Given the description of an element on the screen output the (x, y) to click on. 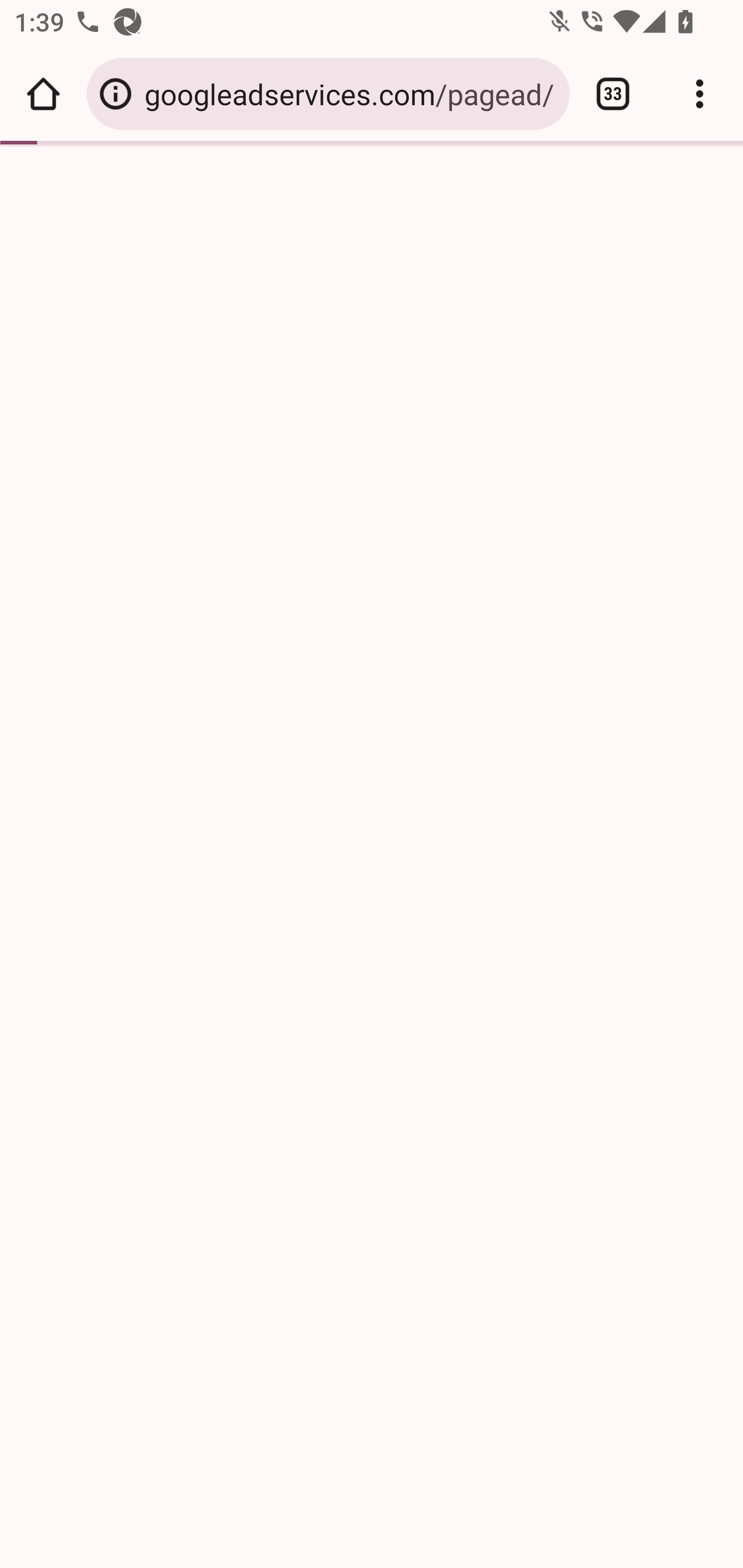
Open the home page (43, 93)
Your connection to this site is not secure (115, 93)
Switch or close tabs (612, 93)
Customize and control Google Chrome (699, 93)
